Given the description of an element on the screen output the (x, y) to click on. 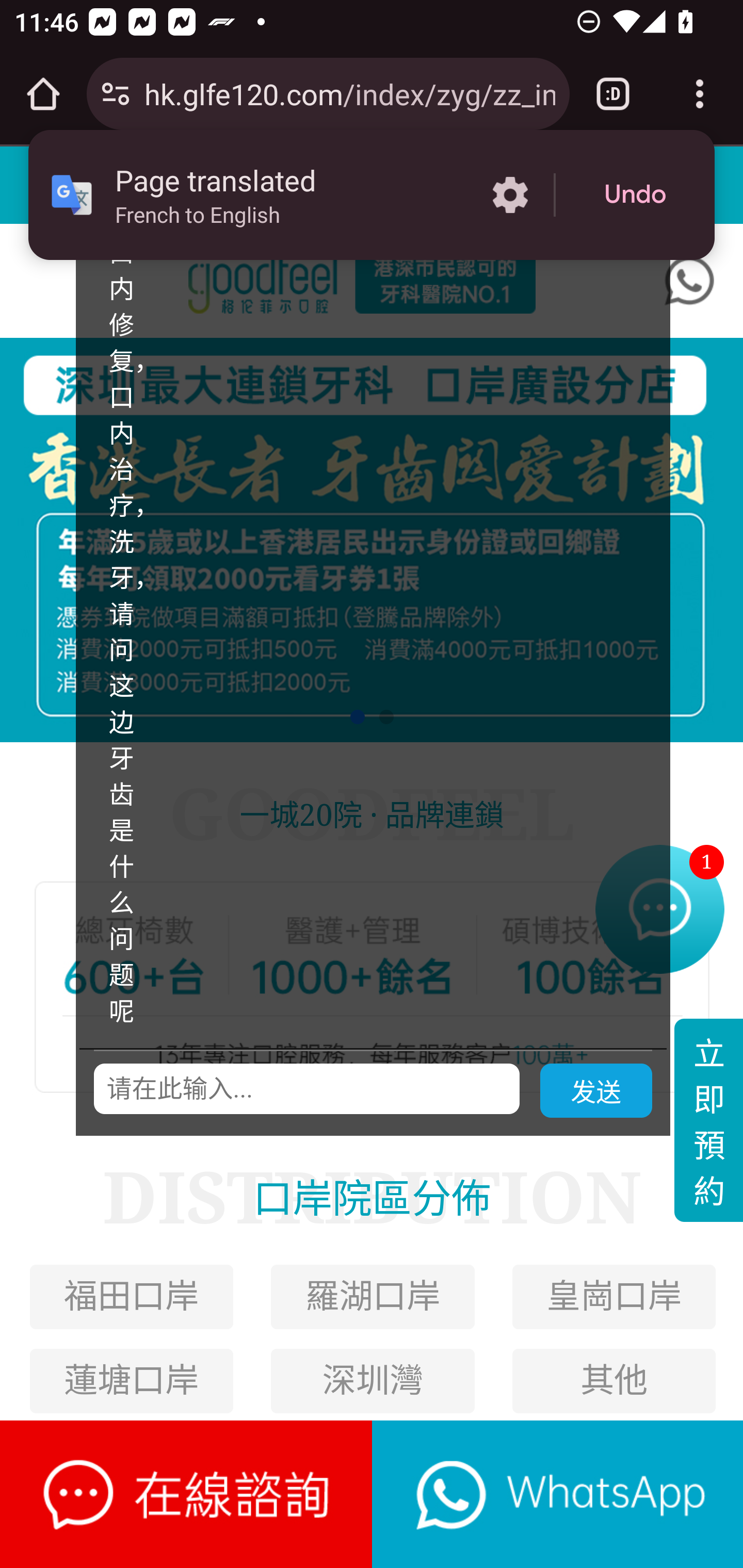
Open the home page (43, 93)
Connection is secure (115, 93)
Switch or close tabs (612, 93)
Customize and control Google Chrome (699, 93)
Undo (634, 195)
More options in the Page translated (509, 195)
立 即 預 約 立 即 預 約 (708, 1120)
发送 (596, 1091)
福田口岸 (131, 1296)
羅湖口岸 (372, 1296)
皇崗口岸 (613, 1296)
蓮塘口岸 (131, 1380)
深圳灣 (372, 1380)
其他 (613, 1380)
javascript:lrminiMax(); (186, 1493)
javascript:addMessage(); (557, 1493)
